Given the description of an element on the screen output the (x, y) to click on. 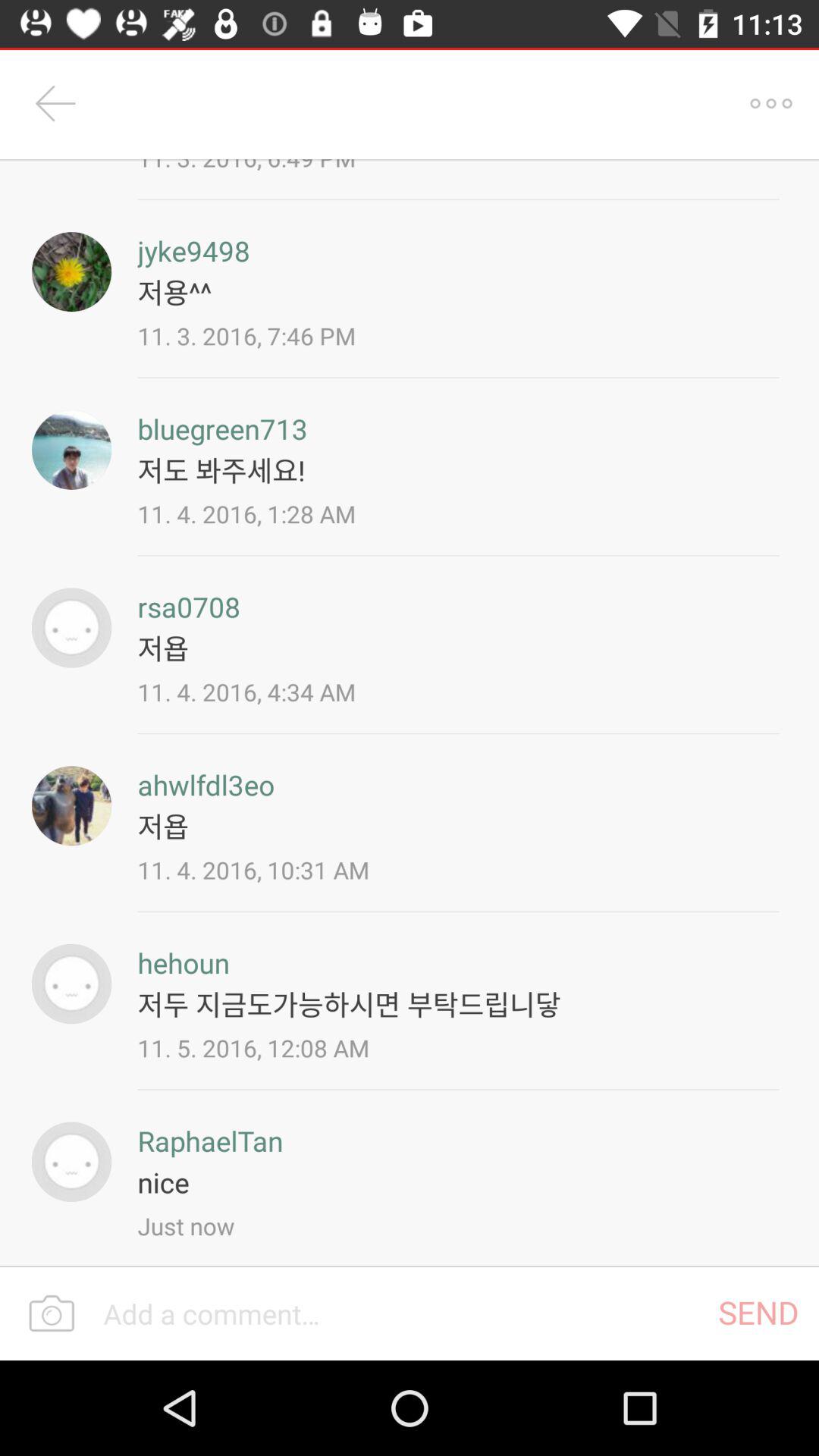
choose account (71, 449)
